Given the description of an element on the screen output the (x, y) to click on. 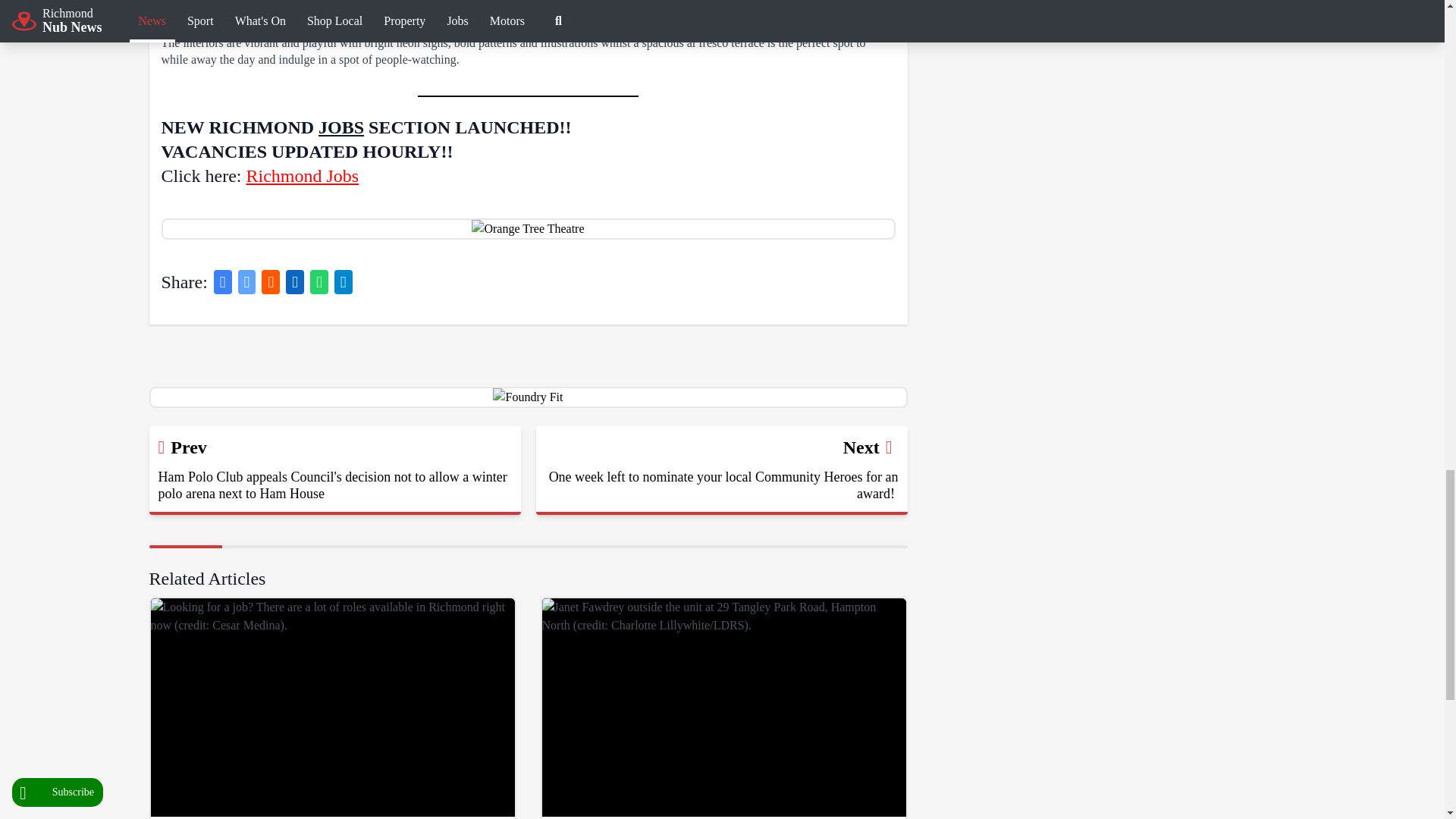
Orange Tree Theatre (527, 229)
Foundry Fit (527, 397)
